Given the description of an element on the screen output the (x, y) to click on. 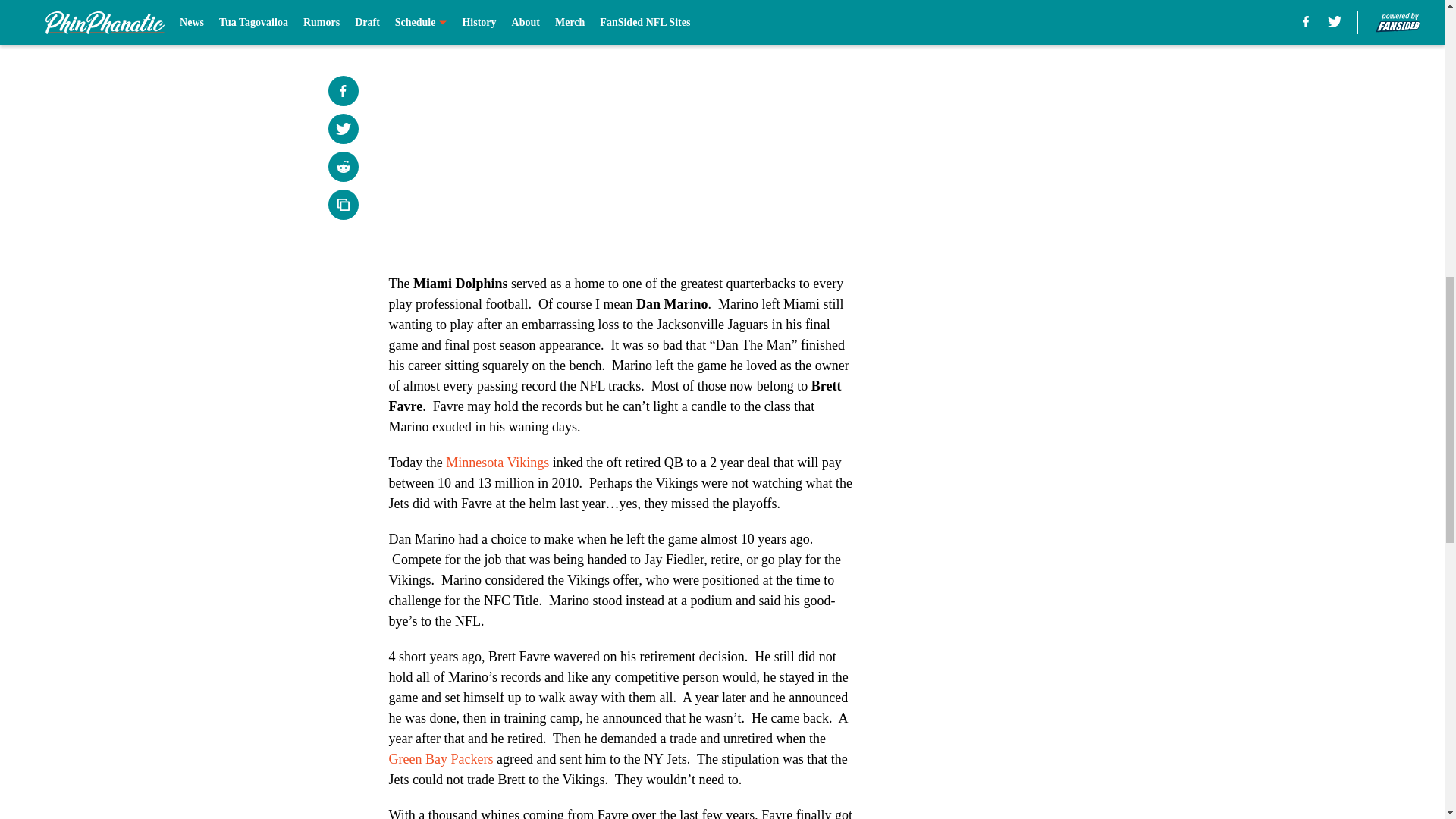
Green Bay Packers (440, 758)
Minnesota Vikings (497, 462)
